Given the description of an element on the screen output the (x, y) to click on. 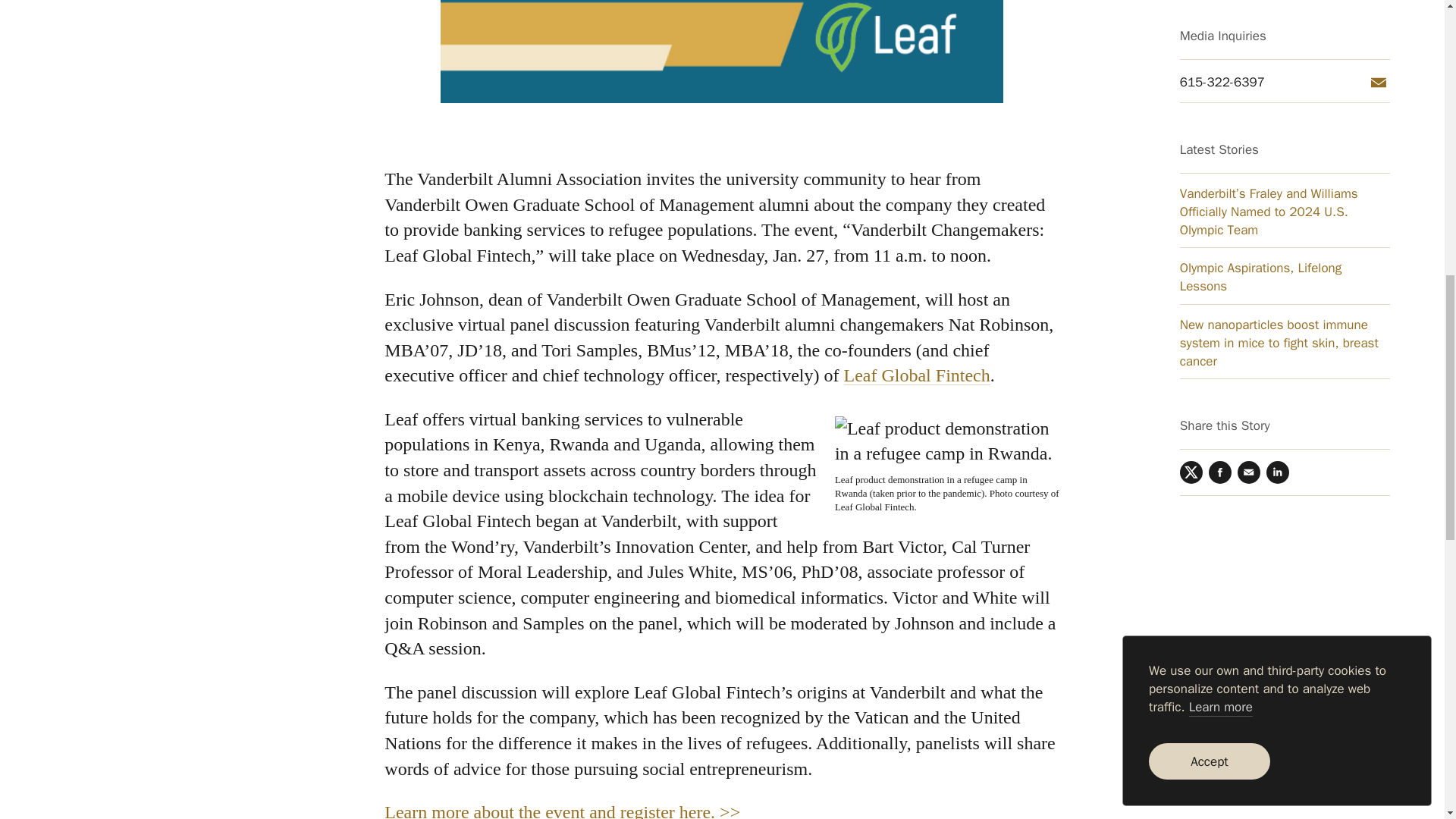
Twitter (1190, 59)
LinkedIn (1277, 59)
Facebook (1219, 59)
Email (1248, 59)
Leaf Global Fintech (916, 374)
